Given the description of an element on the screen output the (x, y) to click on. 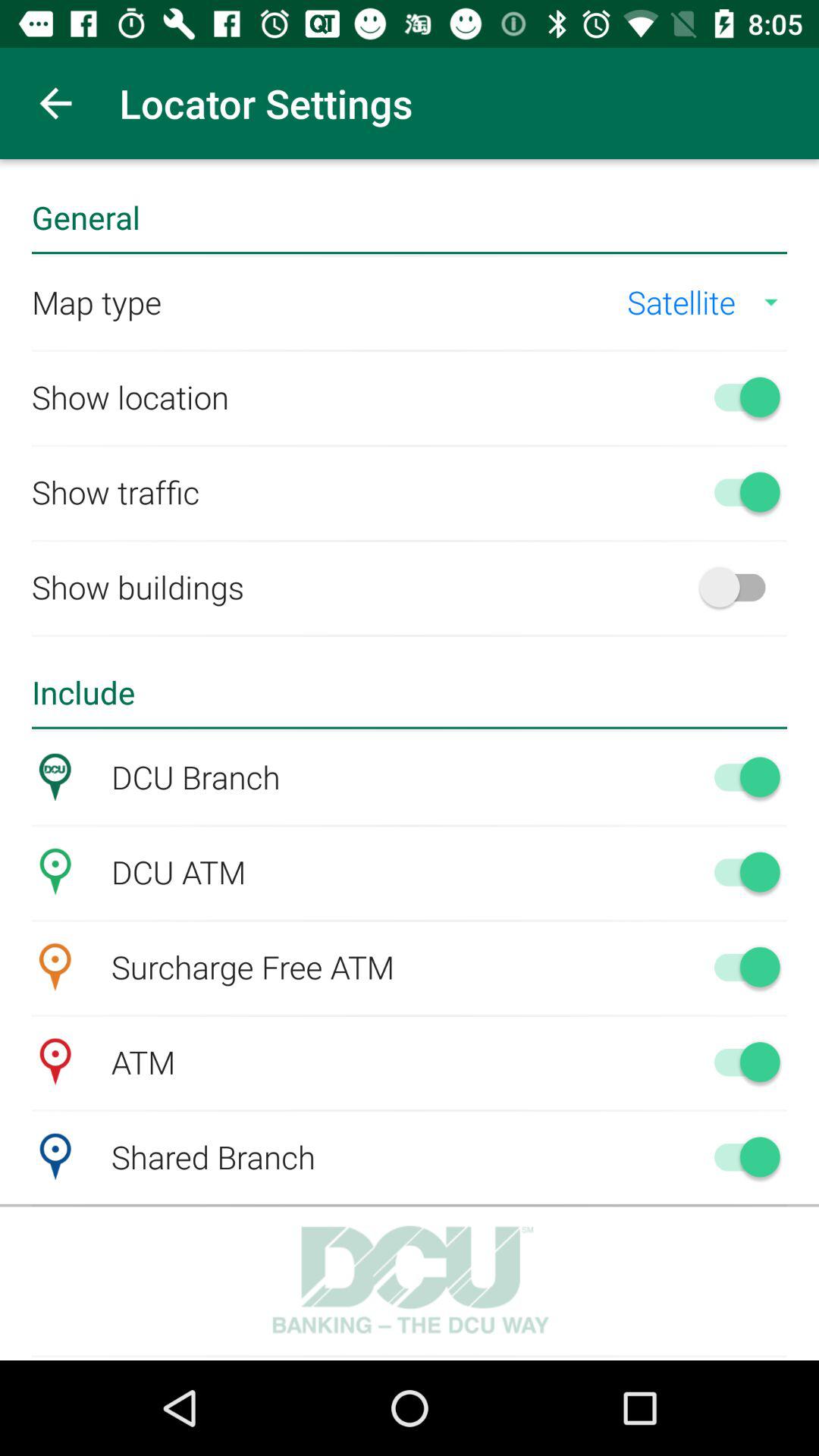
turn off show location (739, 396)
